Given the description of an element on the screen output the (x, y) to click on. 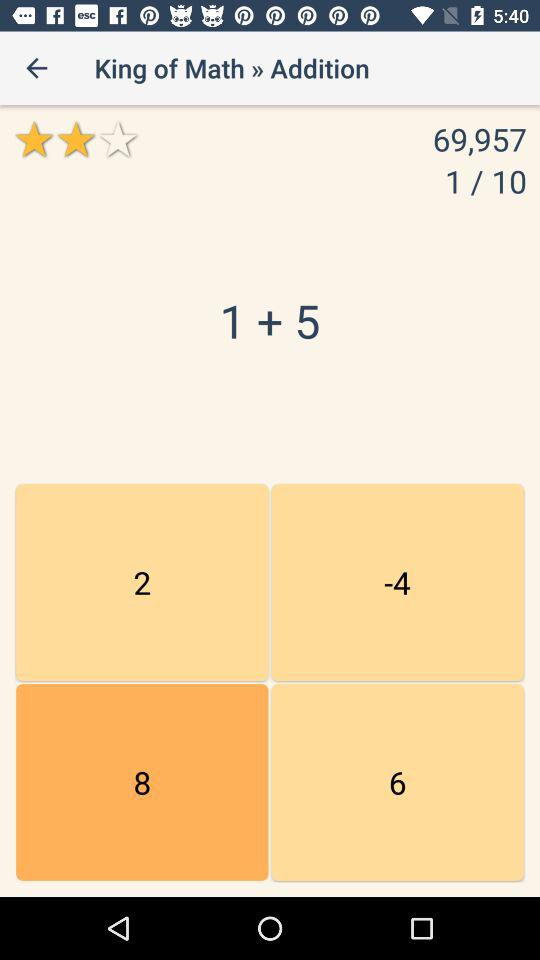
press the item next to the 15 item (397, 781)
